Given the description of an element on the screen output the (x, y) to click on. 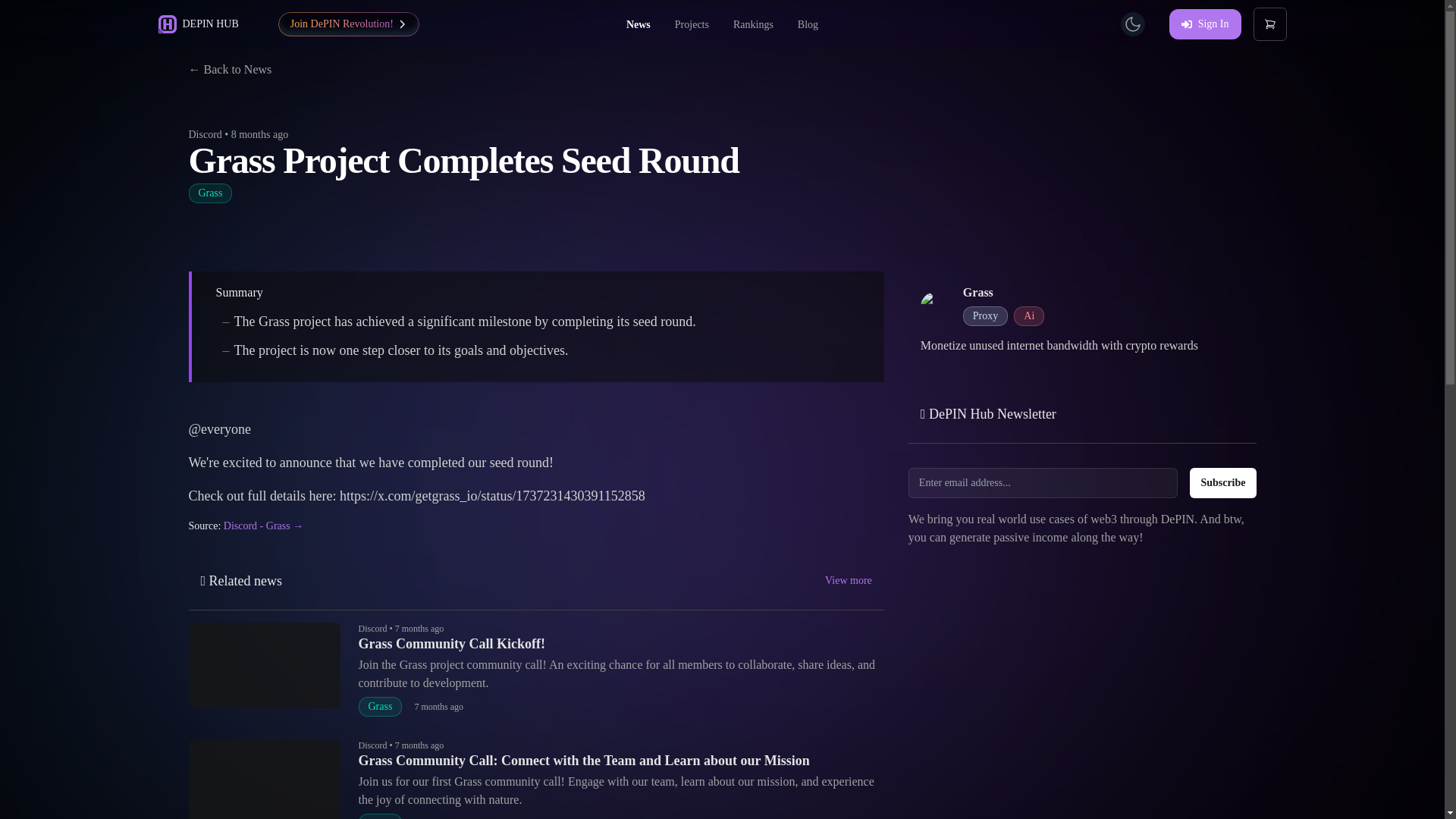
Ai (1028, 314)
DEPIN HUB (197, 24)
View more (848, 580)
Projects (692, 24)
Grass (977, 291)
Join DePIN Revolution! (348, 24)
News (638, 24)
Grass (209, 192)
Subscribe (1222, 482)
Sign In (1205, 24)
